Given the description of an element on the screen output the (x, y) to click on. 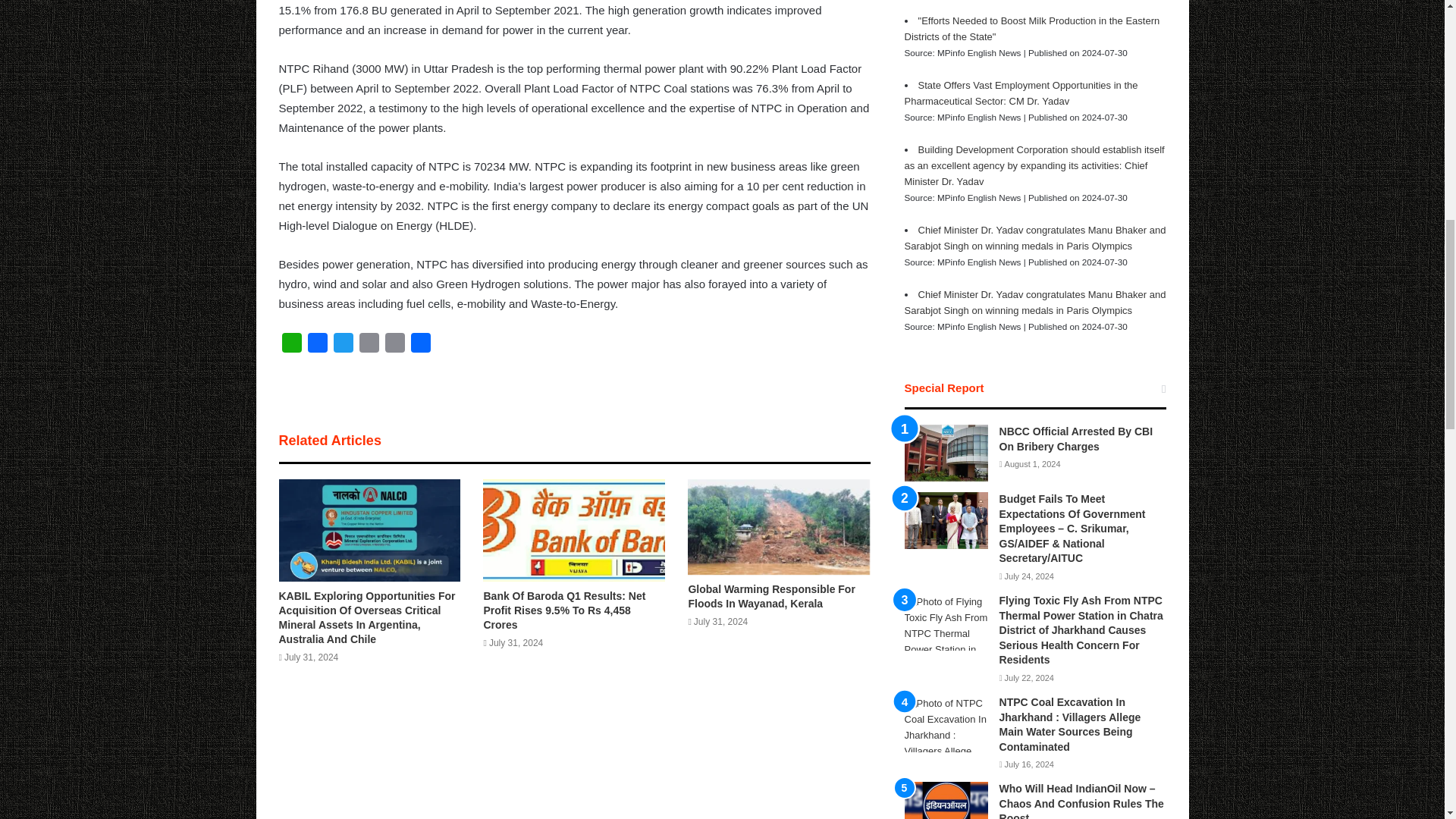
Twitter (343, 345)
Copy Link (394, 345)
Global Warming Responsible For Floods In Wayanad, Kerala (770, 596)
Share (420, 345)
WhatsApp (291, 345)
WhatsApp (291, 345)
Twitter (343, 345)
Copy Link (394, 345)
Facebook (317, 345)
Email (368, 345)
Facebook (317, 345)
Email (368, 345)
